Given the description of an element on the screen output the (x, y) to click on. 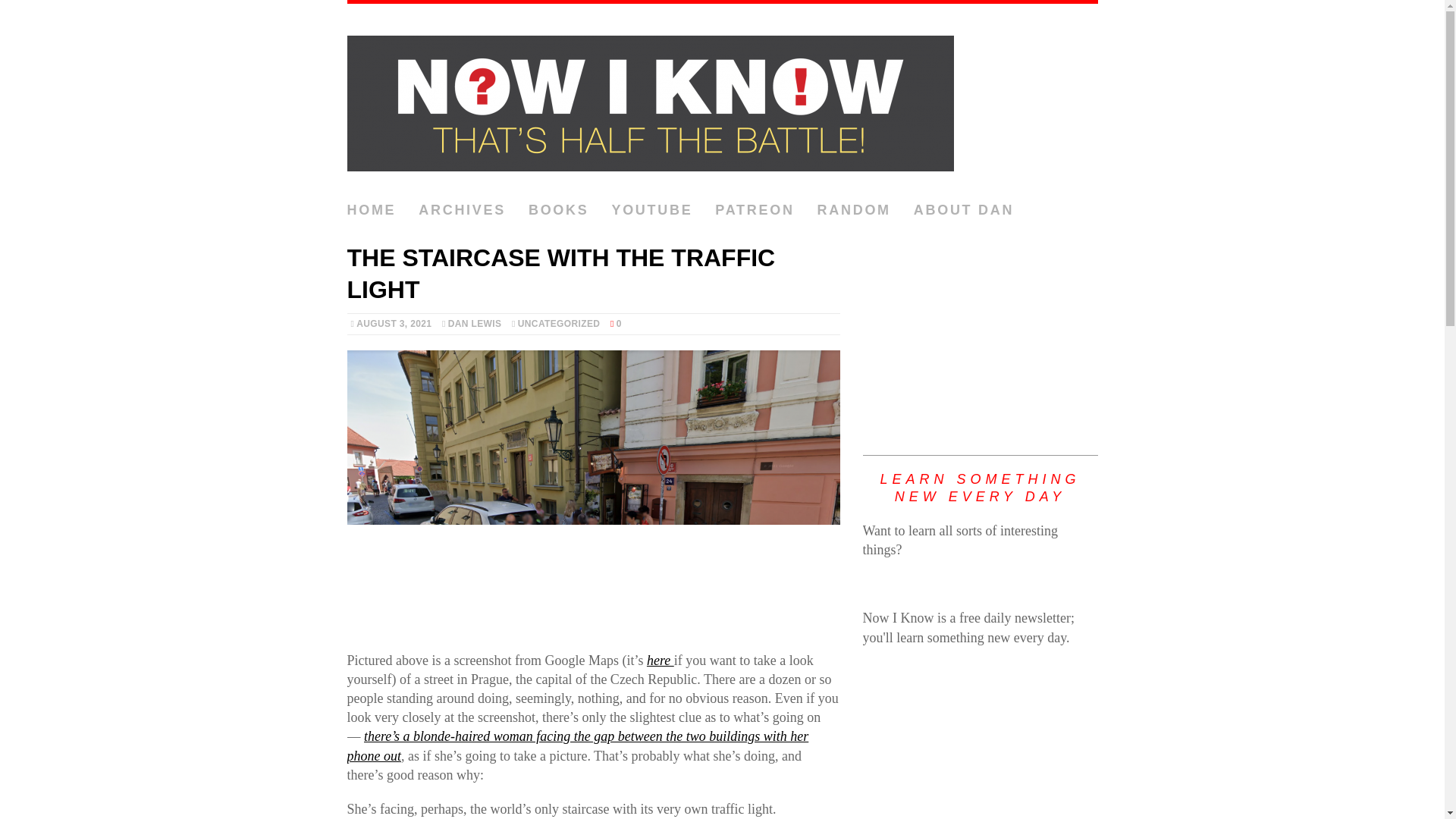
ARCHIVES (462, 210)
UNCATEGORIZED (558, 323)
BOOKS (558, 210)
DAN LEWIS (475, 323)
RANDOM (853, 210)
Posts by Dan Lewis (475, 323)
HOME (371, 210)
here (660, 660)
PATREON (753, 210)
YOUTUBE (652, 210)
ABOUT DAN (963, 210)
